Given the description of an element on the screen output the (x, y) to click on. 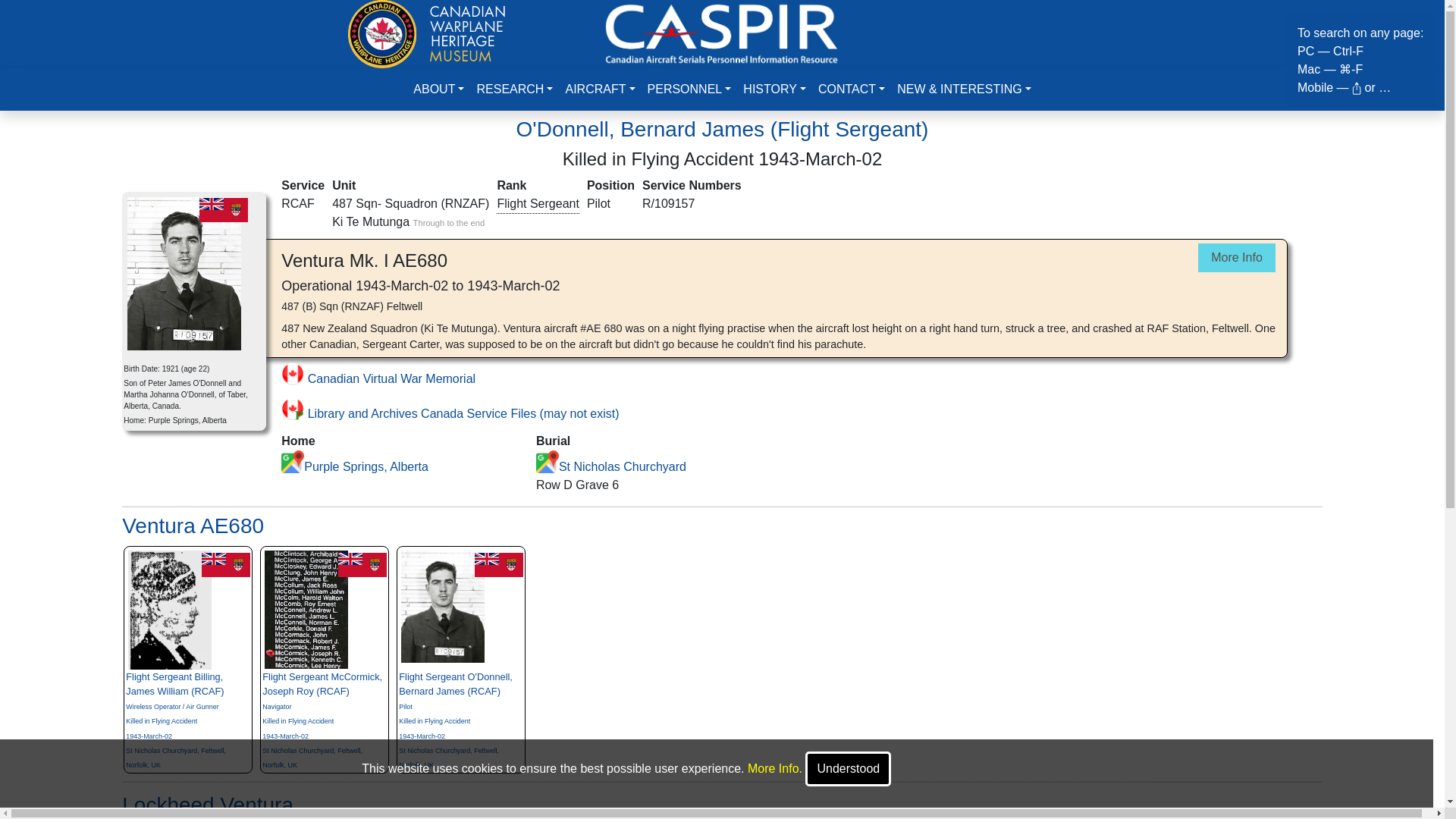
RESEARCH (514, 89)
Return to our Home Page (426, 32)
Click for Google Map (547, 461)
HISTORY (774, 89)
AIRCRAFT (599, 89)
PERSONNEL (690, 89)
ABOUT (438, 89)
Refresh Page (722, 32)
Canada (223, 209)
Click for Google Map (292, 461)
